Given the description of an element on the screen output the (x, y) to click on. 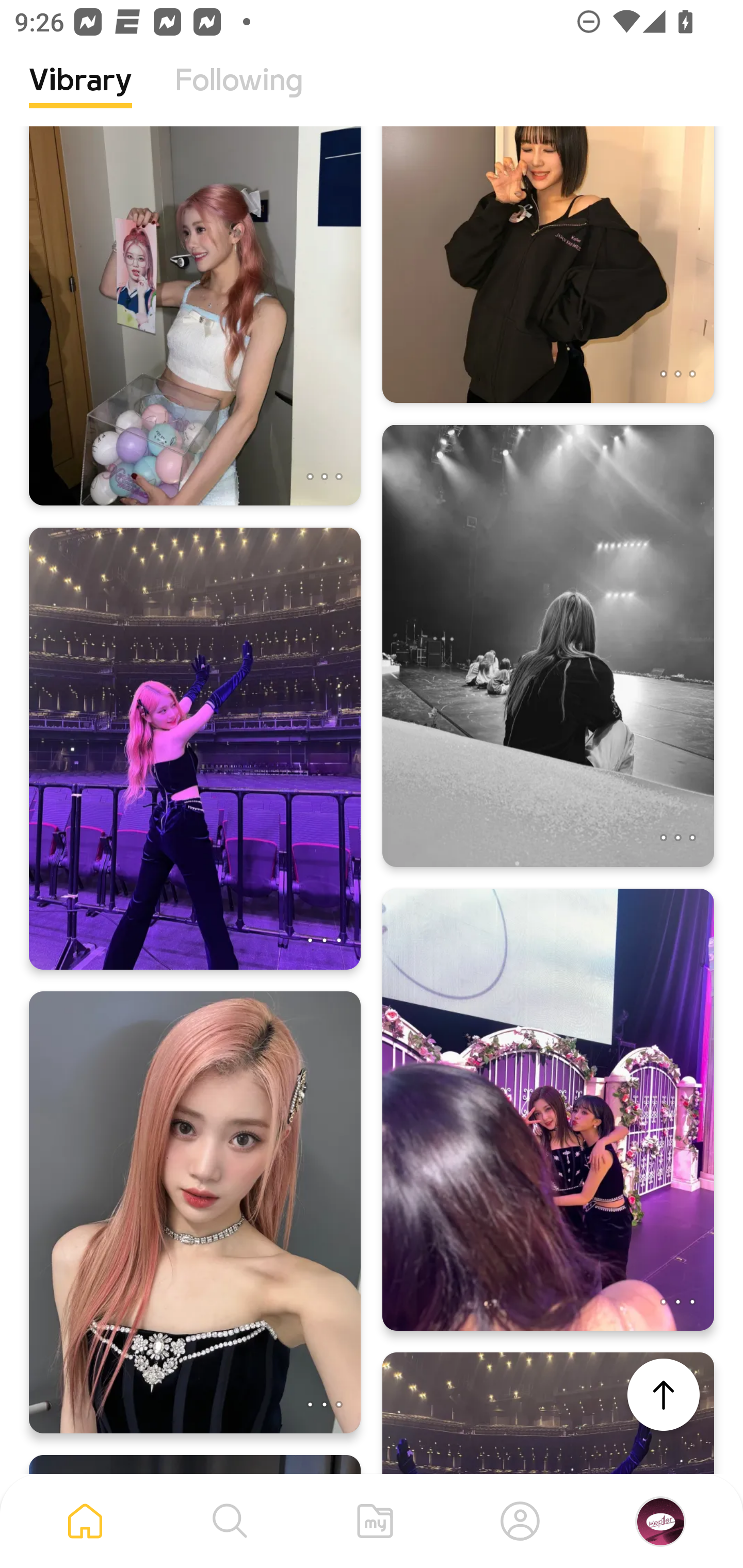
Vibrary (80, 95)
Following (239, 95)
